Given the description of an element on the screen output the (x, y) to click on. 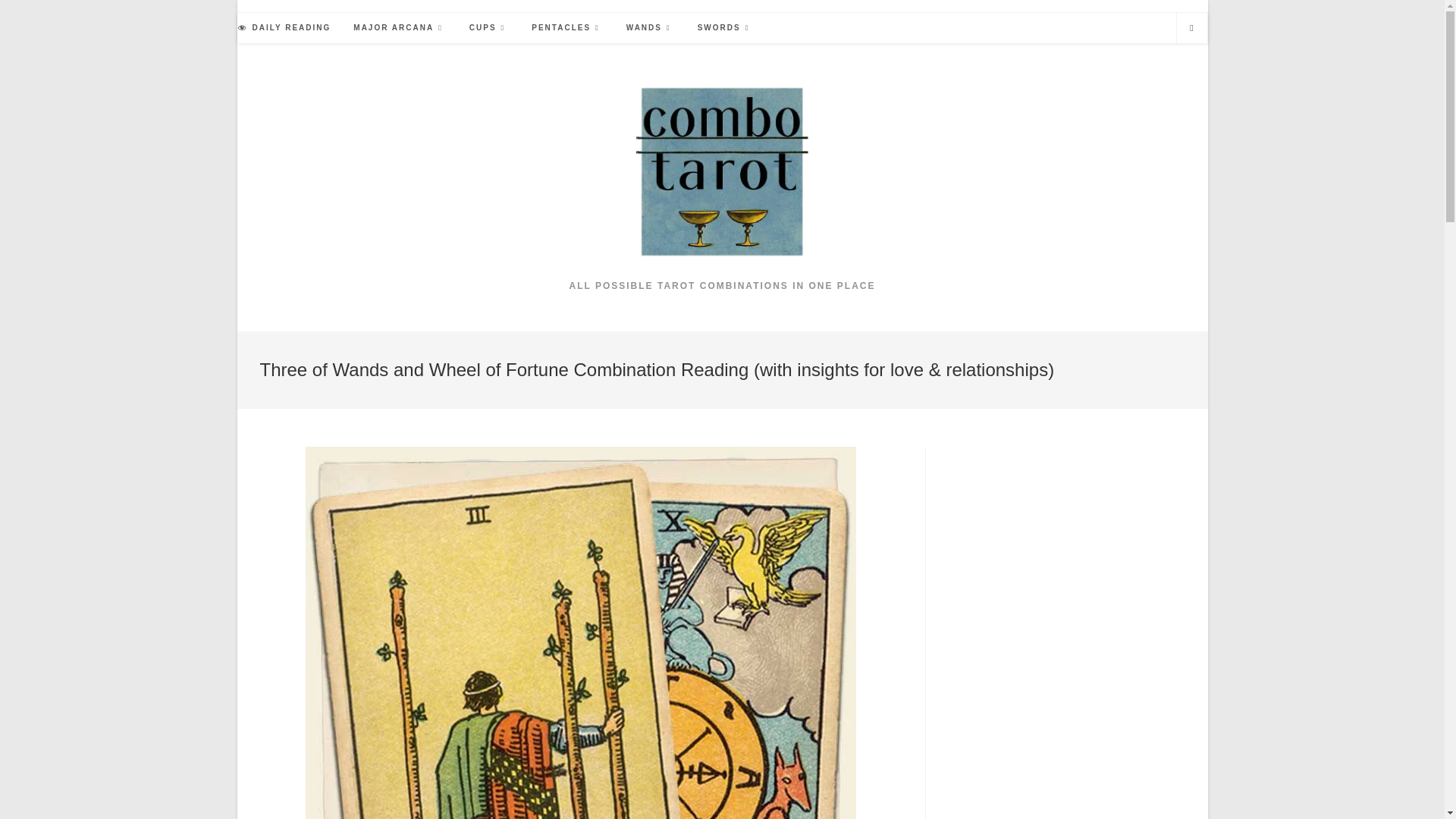
DAILY READING (283, 28)
MAJOR ARCANA (400, 28)
CUPS (488, 28)
